Given the description of an element on the screen output the (x, y) to click on. 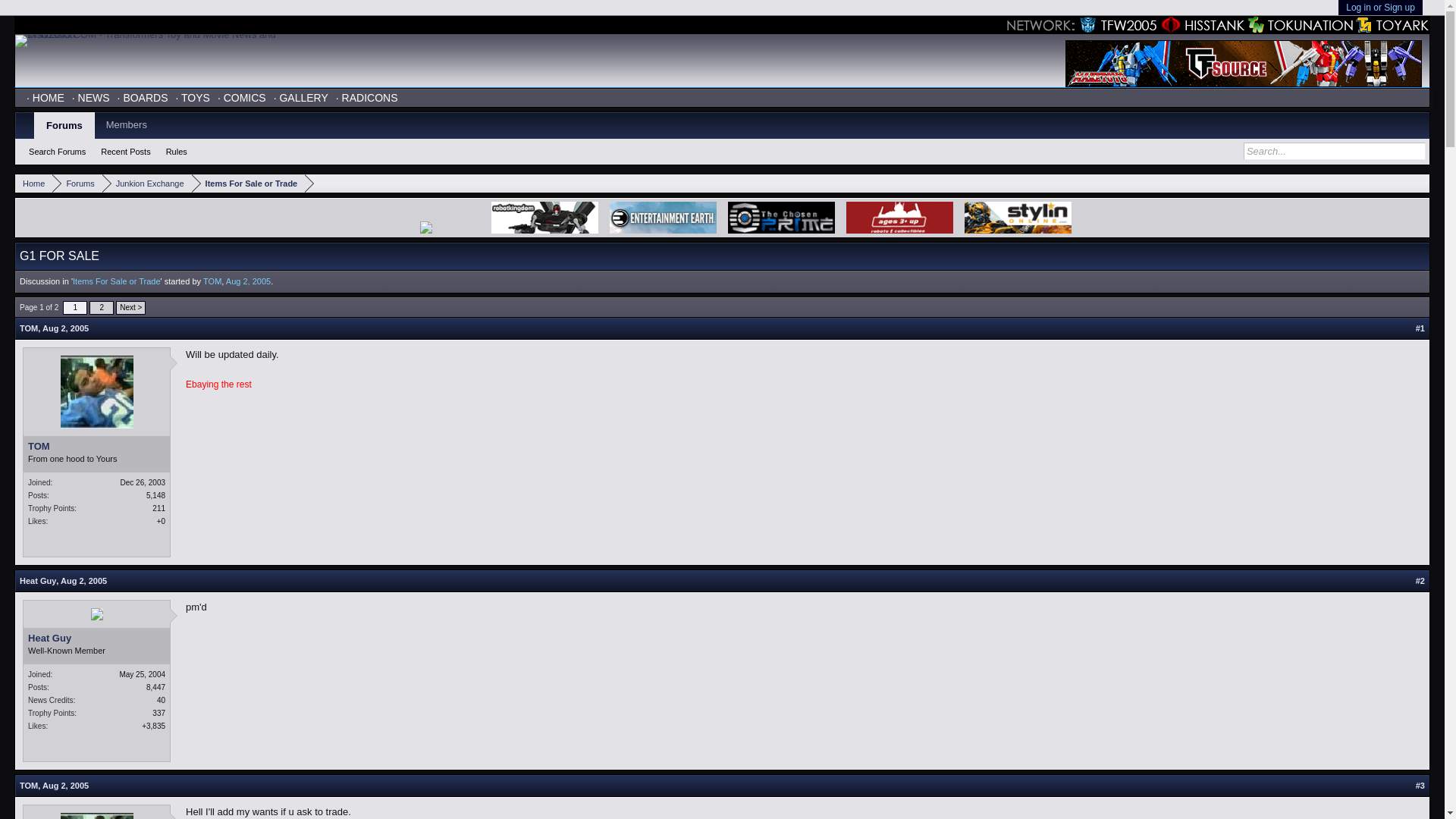
1 (74, 307)
TOM (96, 446)
5,148 (156, 495)
Permalink (65, 327)
TOM (212, 280)
Log in or Sign up (1380, 7)
2 (100, 307)
TOM (28, 785)
Aug 2, 2005 (65, 327)
Aug 2, 2005 (83, 580)
